Given the description of an element on the screen output the (x, y) to click on. 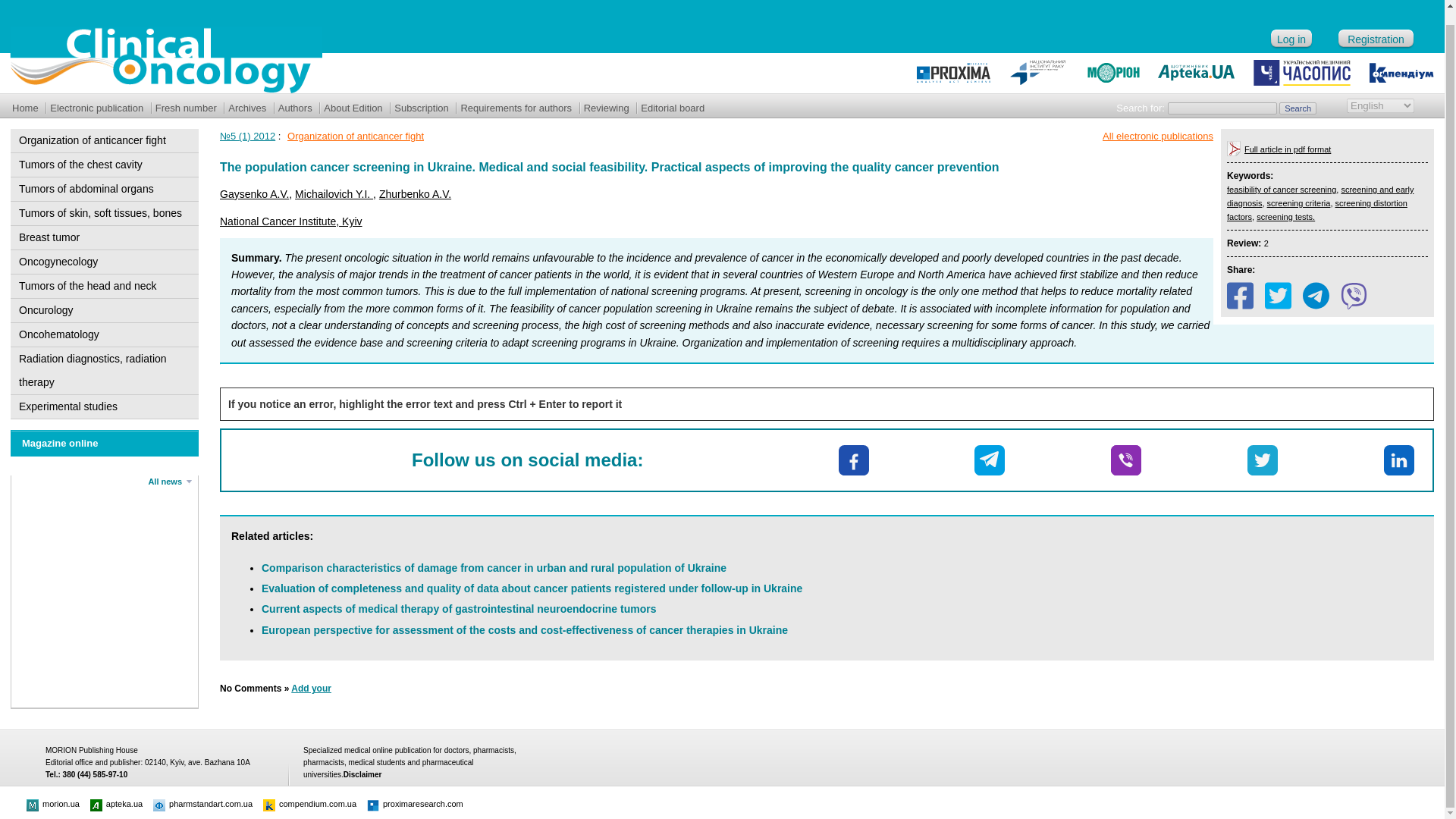
Archives (246, 107)
twitter (1262, 460)
Magazine online (59, 442)
Tumors of abdominal organs (103, 188)
Full article in pdf format (1287, 148)
About Edition (352, 107)
All news (170, 481)
telegram (989, 460)
Oncohematology (103, 334)
